Given the description of an element on the screen output the (x, y) to click on. 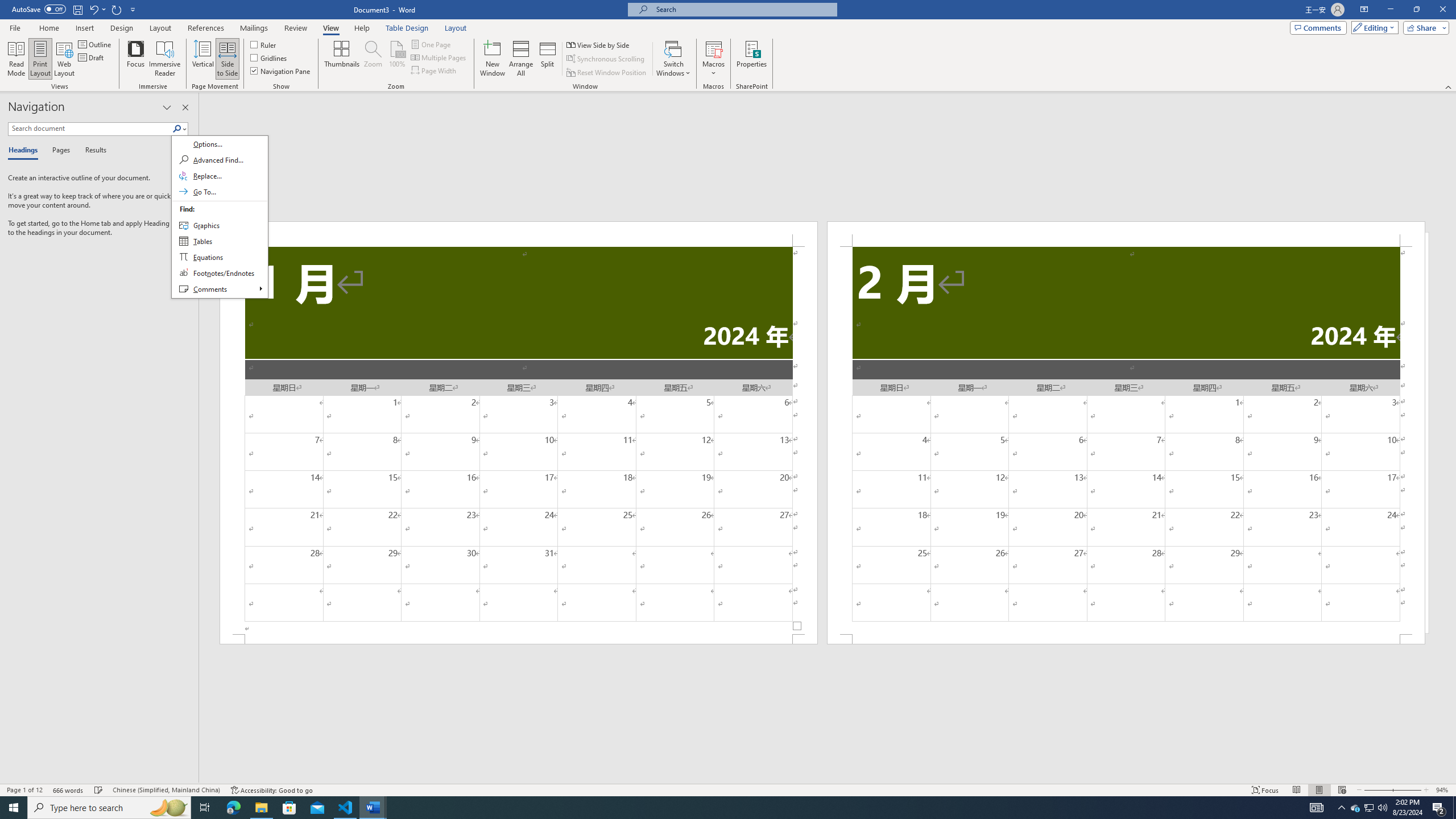
Class: NetUIImage (177, 128)
Table Design (407, 28)
Microsoft Edge (233, 807)
Draft (91, 56)
User Promoted Notification Area (1368, 807)
Save (77, 9)
Collapse the Ribbon (1448, 86)
Comments (1318, 27)
Design (122, 28)
Class: MsoCommandBar (728, 789)
Header -Section 2- (1126, 233)
Macros (713, 58)
AutoSave (38, 9)
Footer -Section 1- (518, 638)
